Given the description of an element on the screen output the (x, y) to click on. 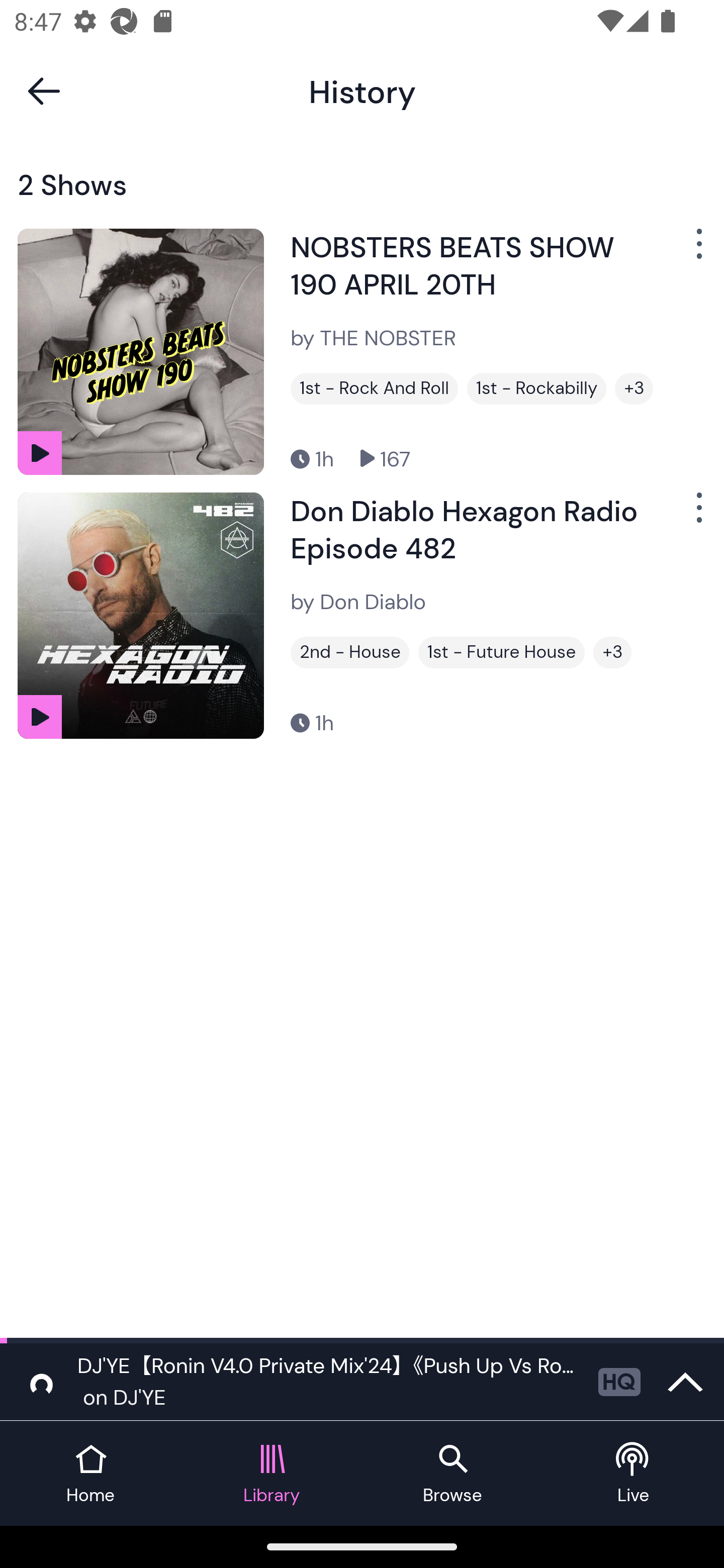
Show Options Menu Button (697, 251)
1st - Rock And Roll (374, 388)
1st - Rockabilly (536, 388)
Show Options Menu Button (697, 514)
2nd - House (349, 651)
1st - Future House (501, 651)
Home tab Home (90, 1473)
Library tab Library (271, 1473)
Browse tab Browse (452, 1473)
Live tab Live (633, 1473)
